Given the description of an element on the screen output the (x, y) to click on. 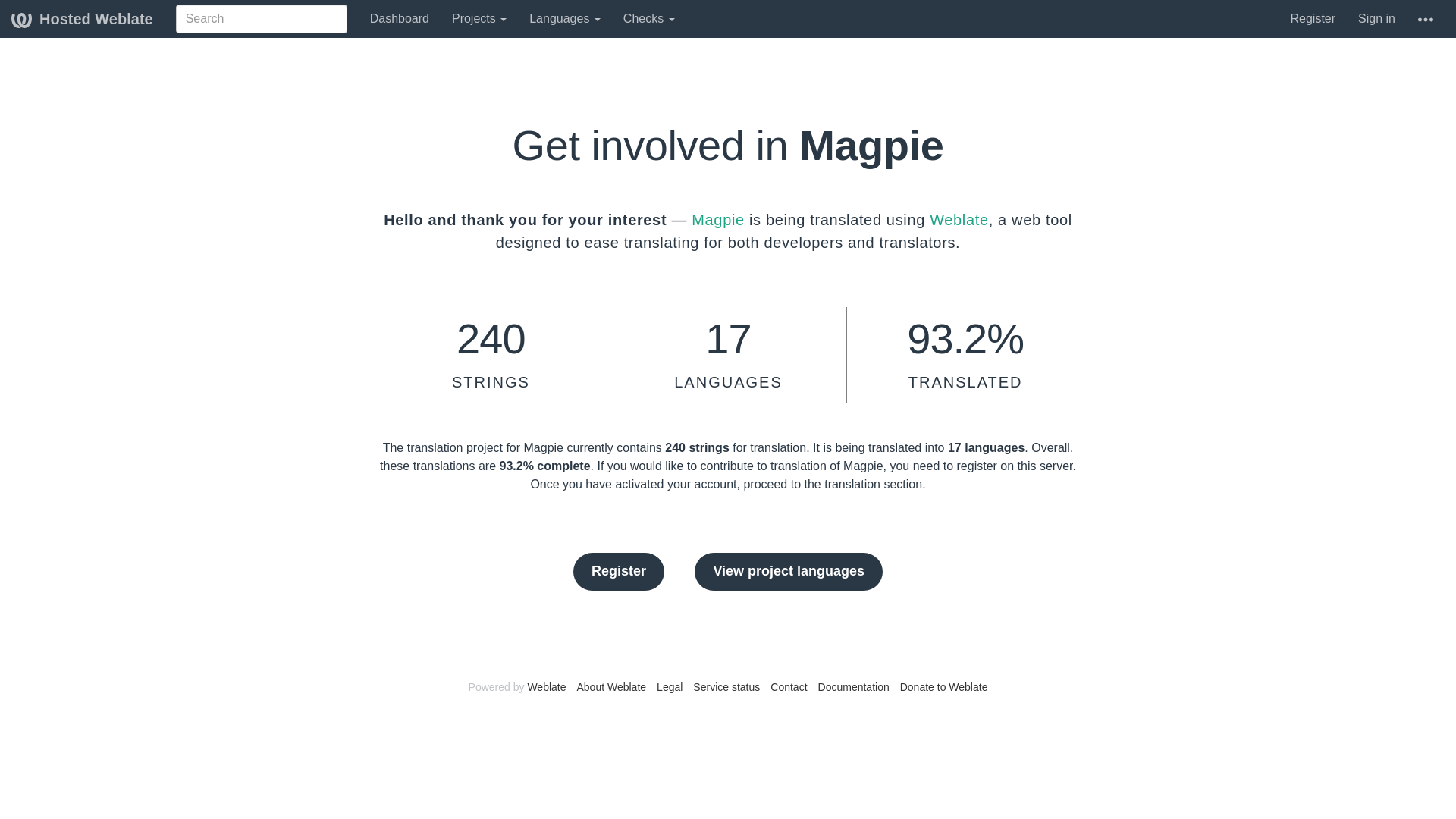
Hosted Weblate (82, 18)
Sign in (1376, 18)
Help (1425, 18)
Languages (564, 18)
About Weblate (611, 686)
Projects (479, 18)
Magpie (717, 219)
Register (1312, 18)
Donate to Weblate (943, 686)
Dashboard (399, 18)
